Given the description of an element on the screen output the (x, y) to click on. 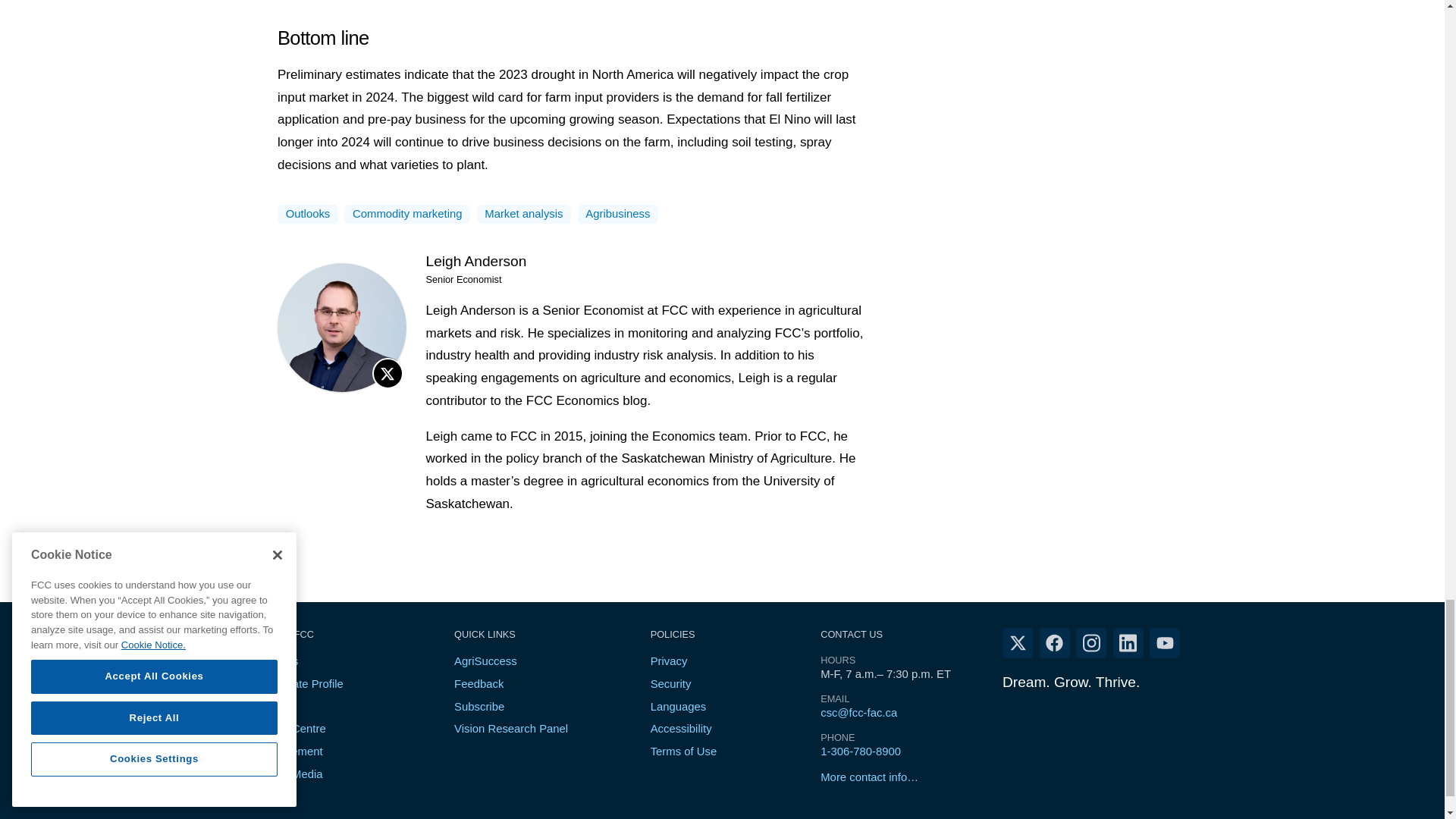
Outlooks (307, 213)
Agribusiness (618, 213)
Commodity marketing (406, 213)
Careers (277, 661)
Corporate Profile (299, 684)
Media Centre (290, 728)
Procurement (289, 751)
AgriSuccess (485, 661)
Market analysis (523, 213)
Social Media (289, 774)
ESG (269, 706)
